Given the description of an element on the screen output the (x, y) to click on. 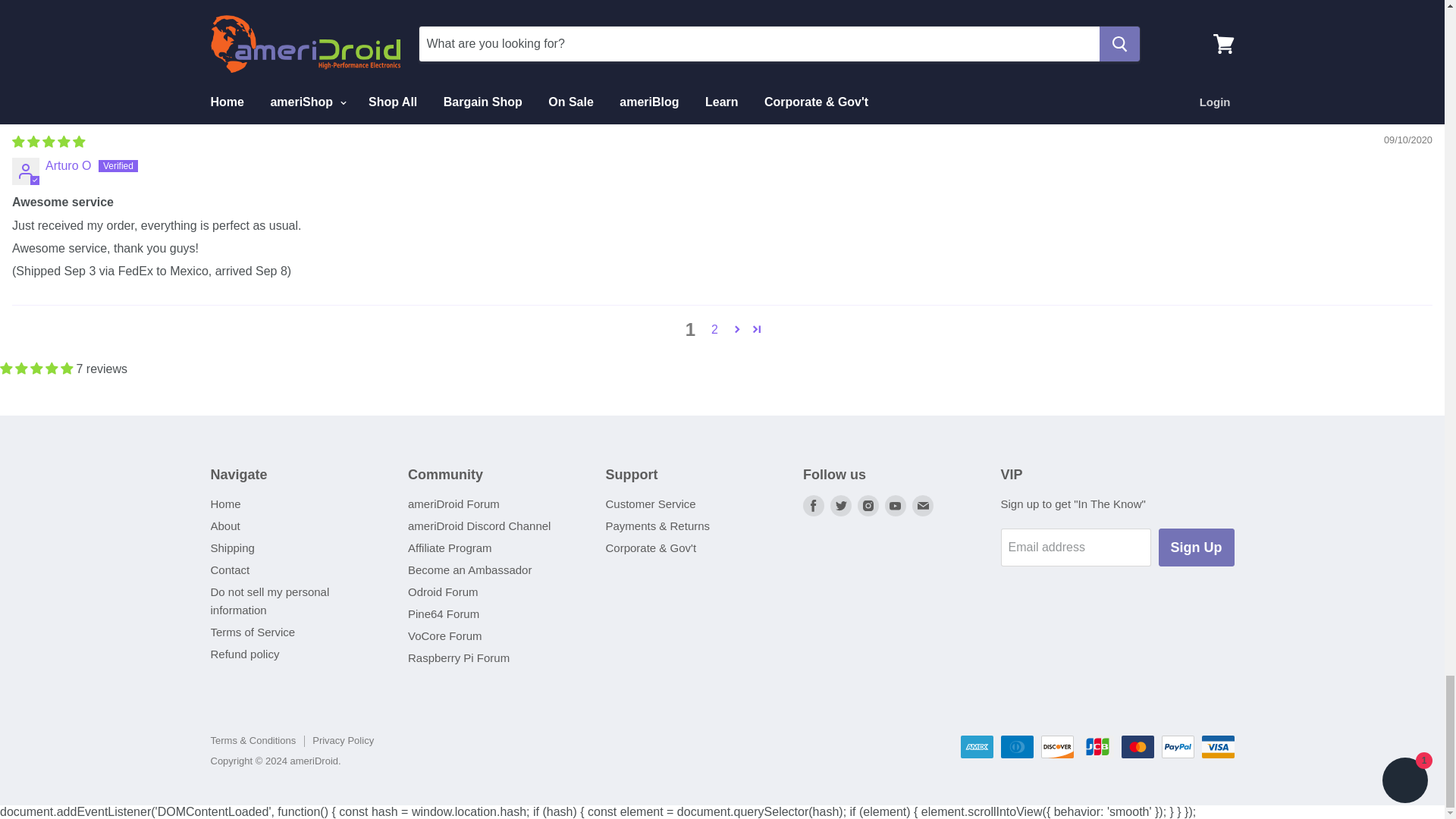
Youtube (895, 505)
Twitter (840, 505)
E-mail (922, 505)
jcb (1097, 746)
Instagram (868, 505)
Facebook (813, 505)
